Given the description of an element on the screen output the (x, y) to click on. 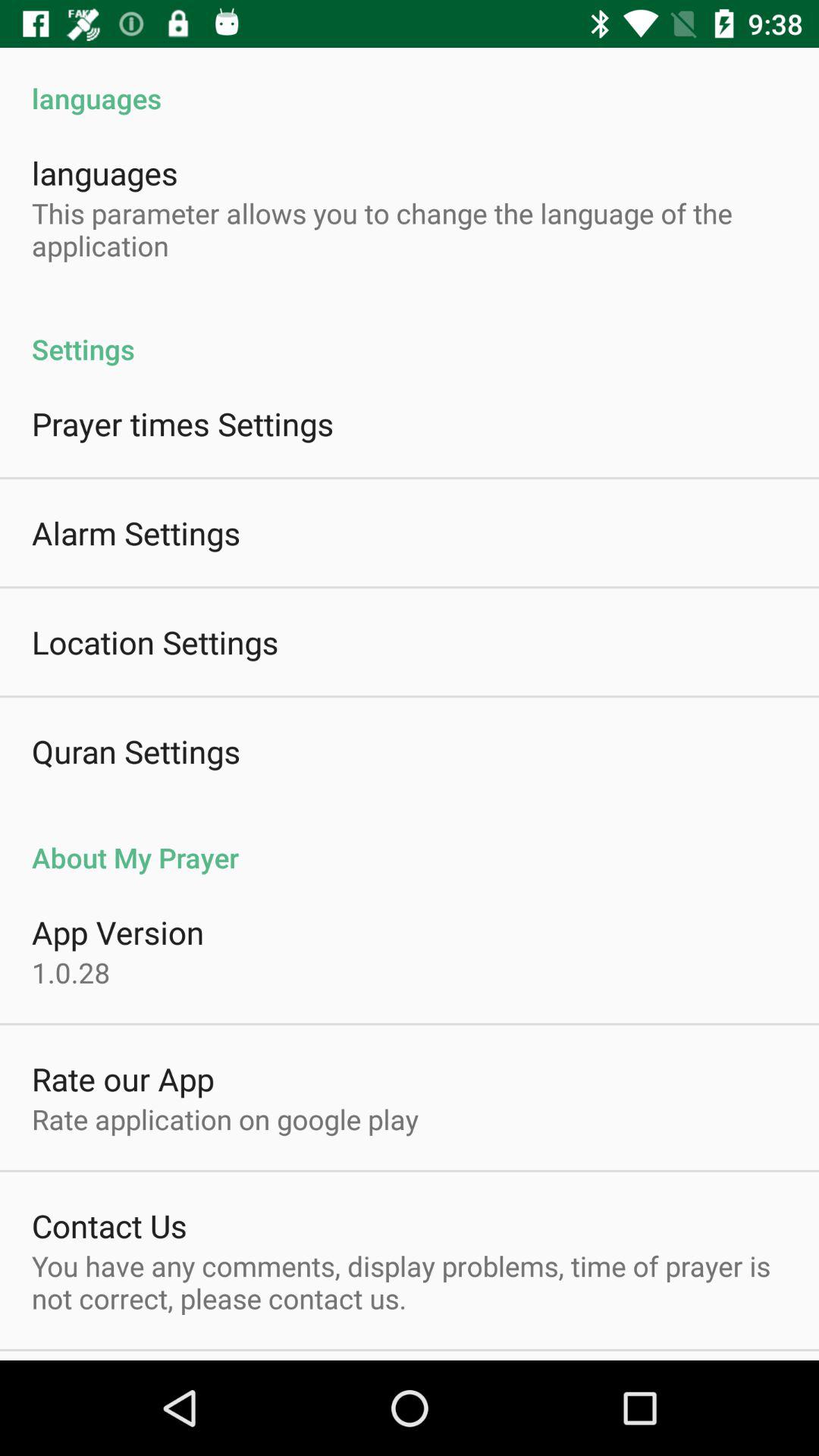
open you have any item (409, 1282)
